Given the description of an element on the screen output the (x, y) to click on. 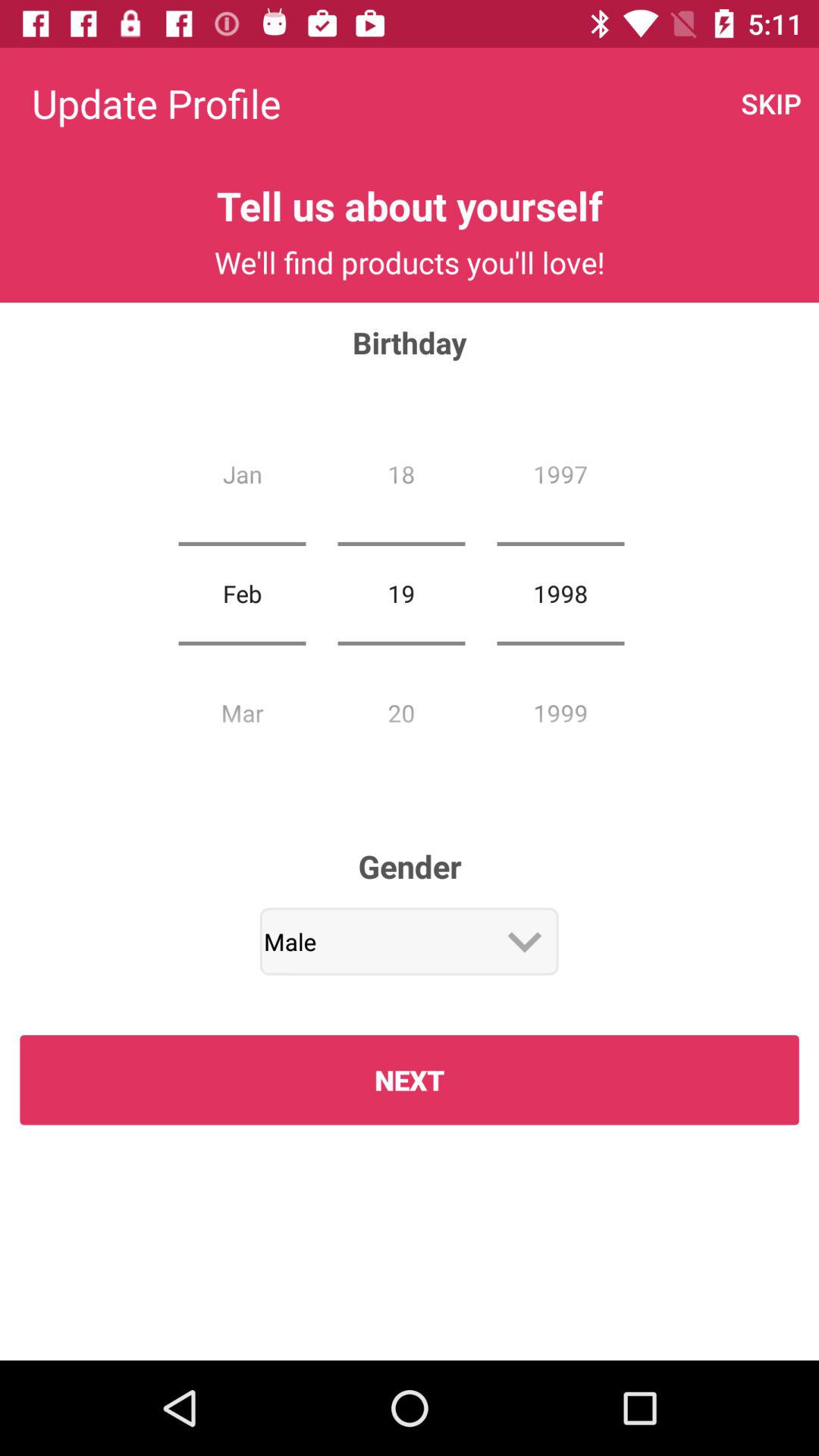
jump until the next (409, 1079)
